Given the description of an element on the screen output the (x, y) to click on. 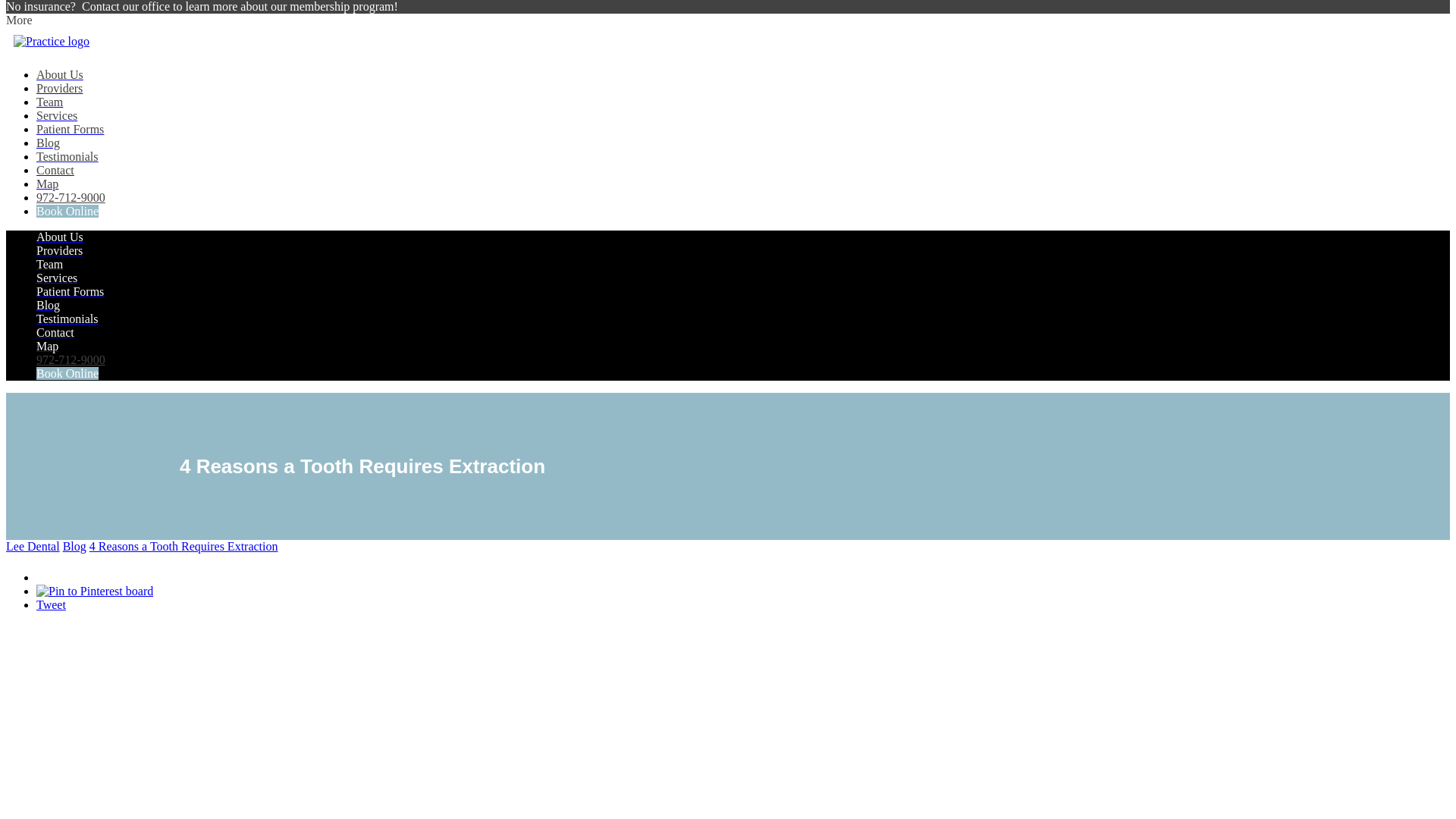
Testimonials (67, 155)
Team (49, 101)
Book Online (67, 210)
Blog (47, 142)
Map (47, 183)
Blog (47, 305)
About Us (59, 236)
Facebook social button (89, 573)
Contact (55, 169)
Providers (59, 250)
